Given the description of an element on the screen output the (x, y) to click on. 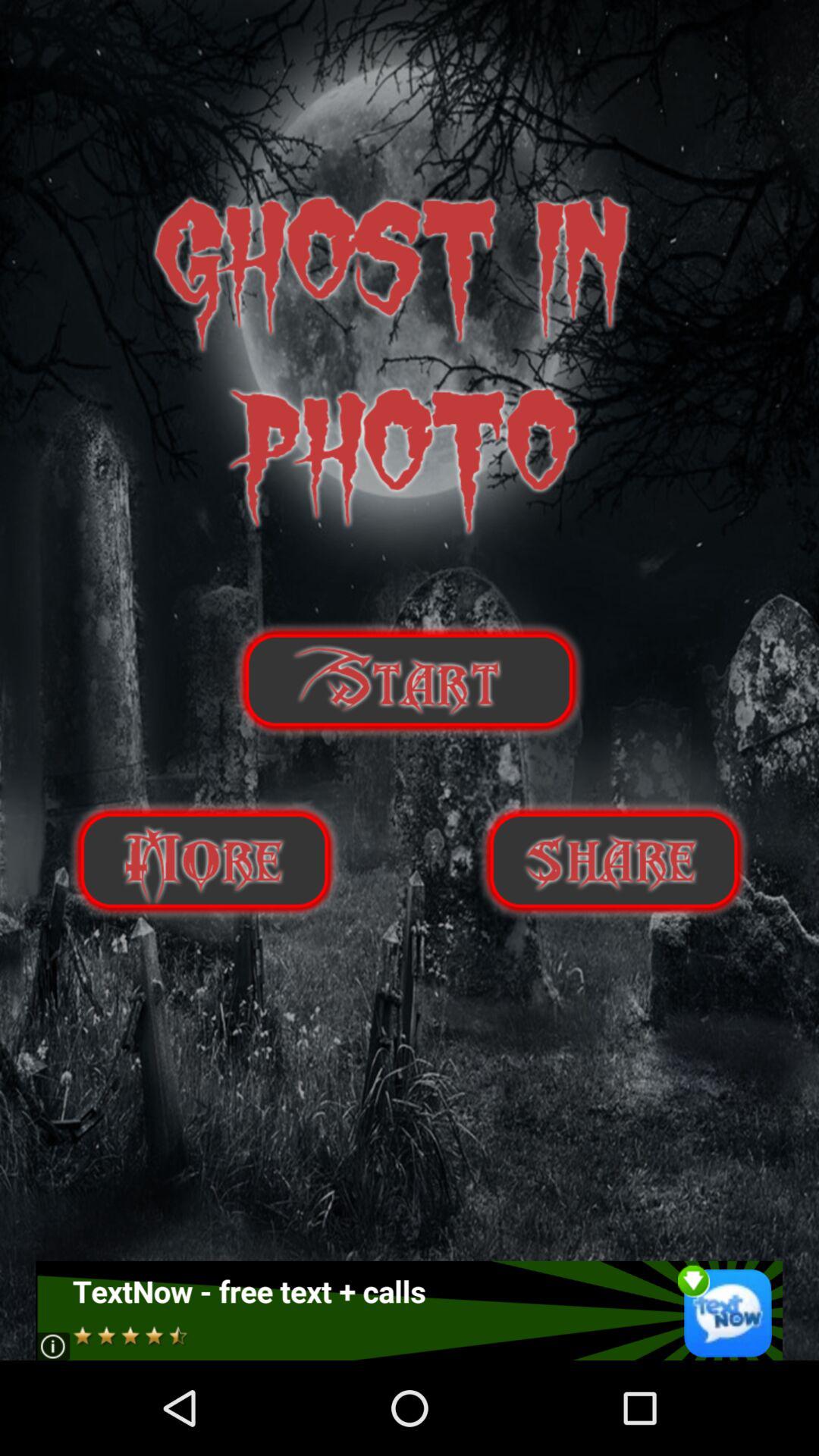
select start (409, 679)
